Given the description of an element on the screen output the (x, y) to click on. 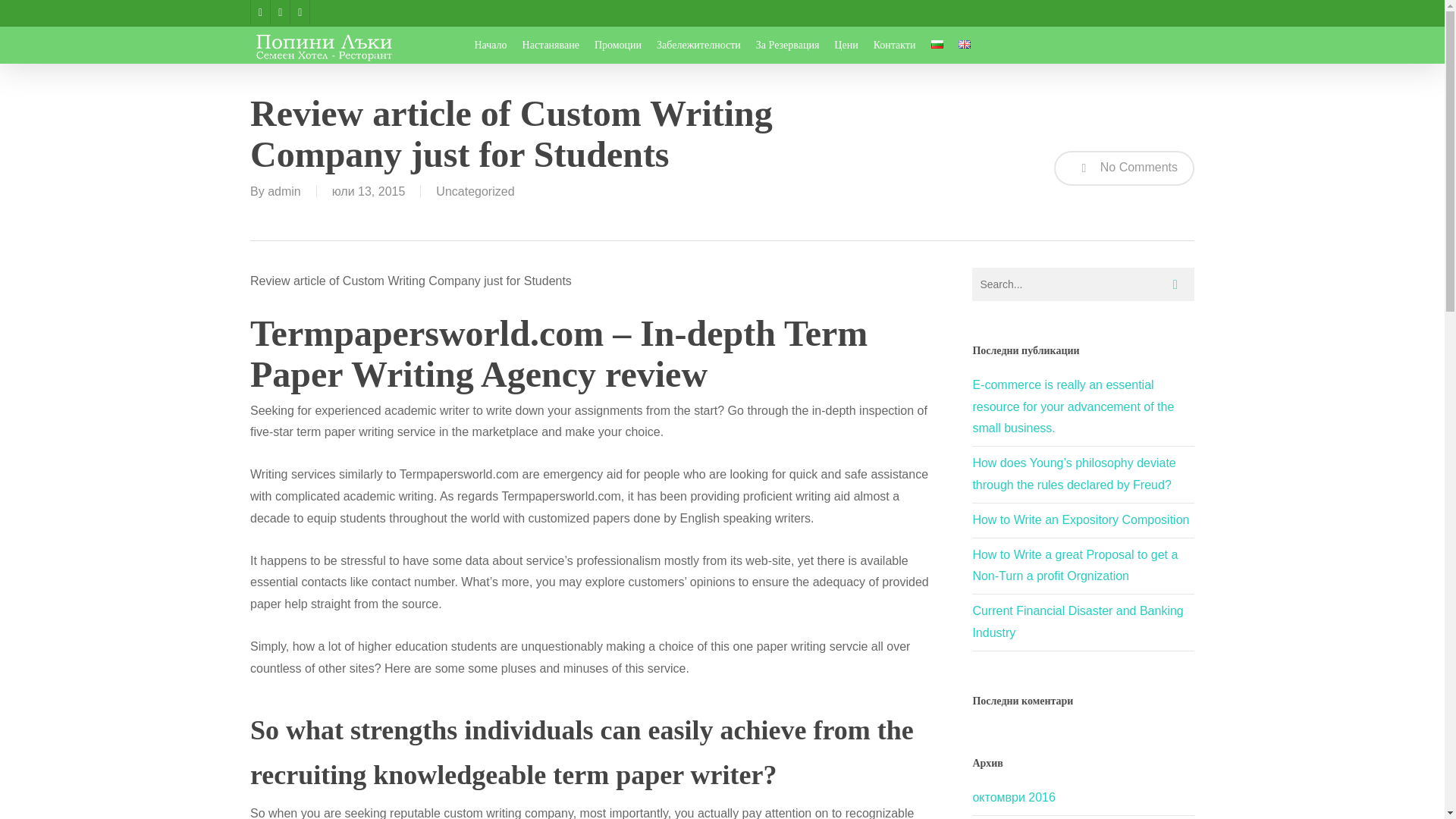
How to Write an Expository Composition (1080, 519)
google-plus (279, 12)
instagram (298, 12)
Search for: (1082, 284)
Current Financial Disaster and Banking Industry (1077, 621)
facebook (259, 12)
Uncategorized (474, 191)
No Comments (1123, 167)
admin (284, 191)
